Given the description of an element on the screen output the (x, y) to click on. 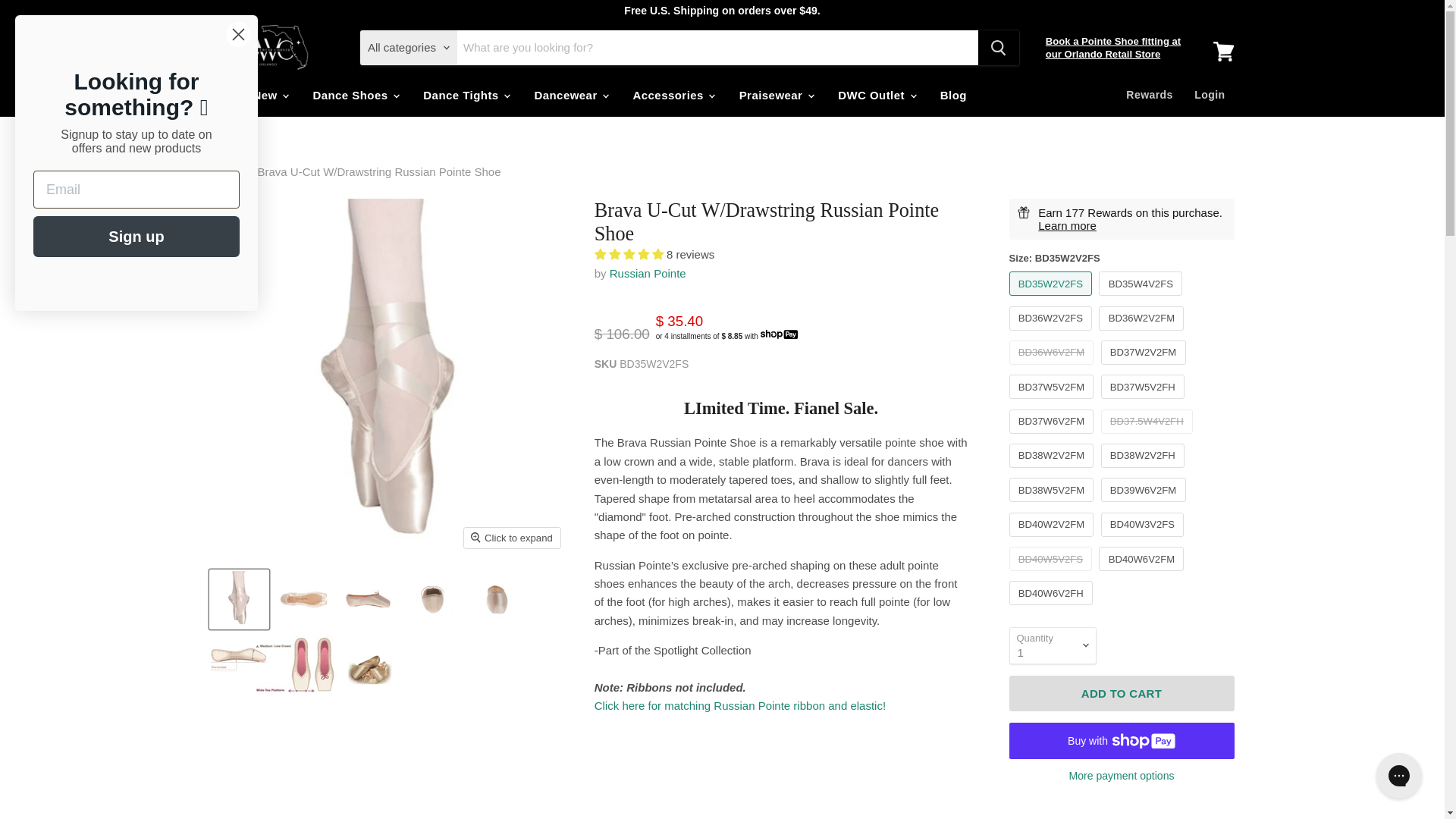
Dance Shoes (355, 94)
View cart (1223, 51)
Book a Pointe Shoe fitting at our Orlando Retail Store (1112, 47)
What's New (248, 94)
Russian Pointe (647, 273)
